Given the description of an element on the screen output the (x, y) to click on. 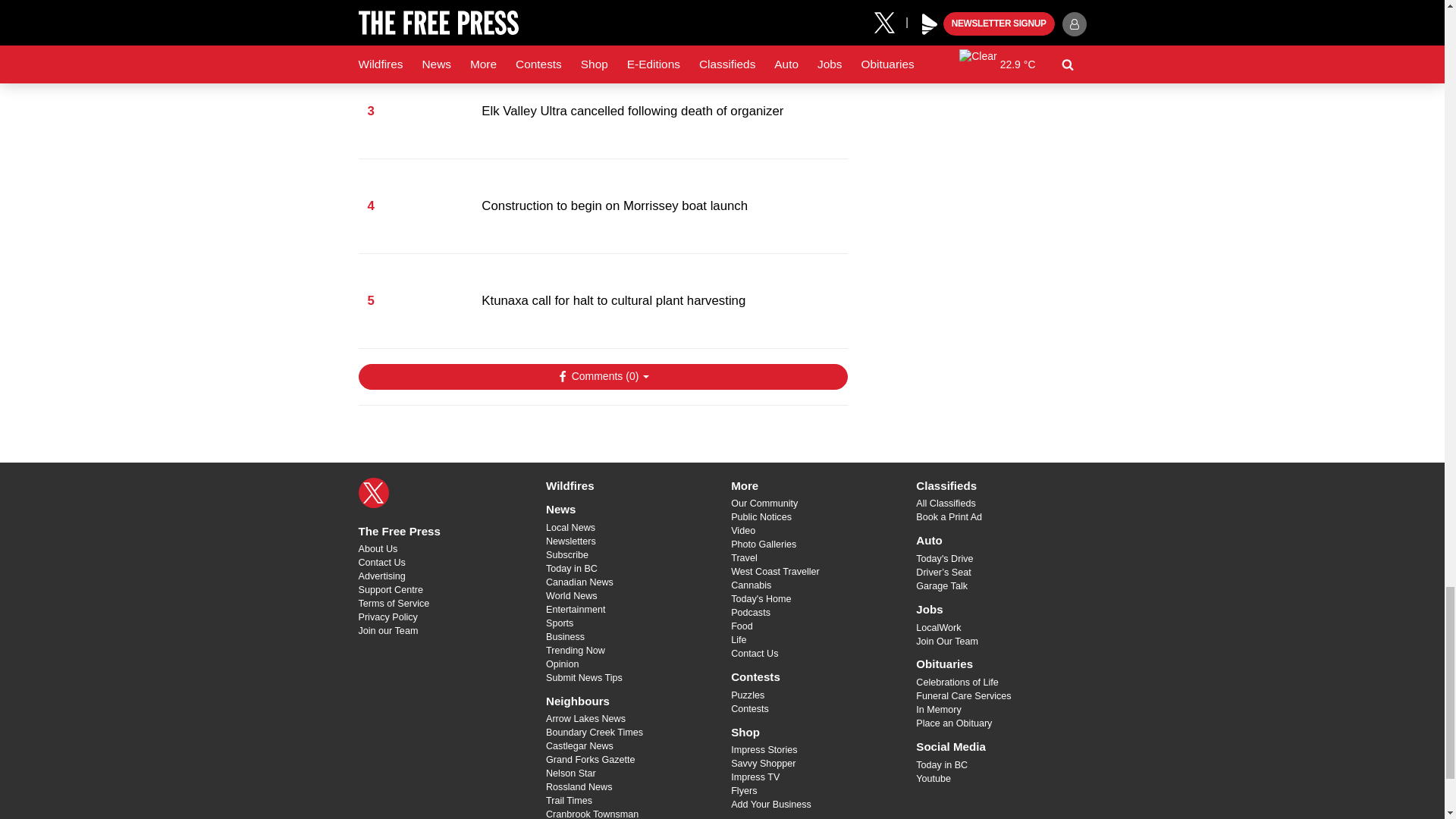
X (373, 492)
Show Comments (602, 376)
